Given the description of an element on the screen output the (x, y) to click on. 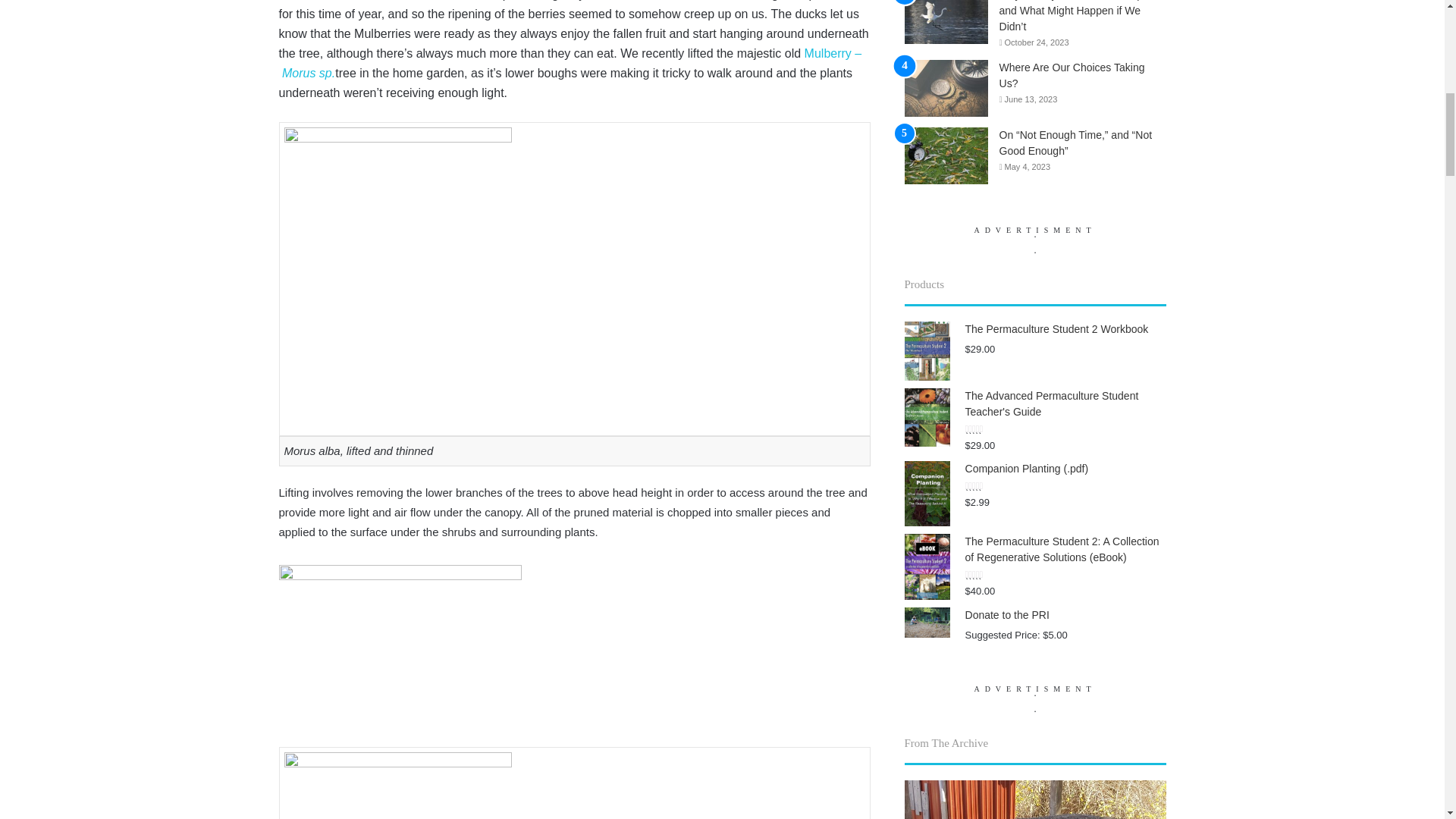
sp. (326, 72)
